Given the description of an element on the screen output the (x, y) to click on. 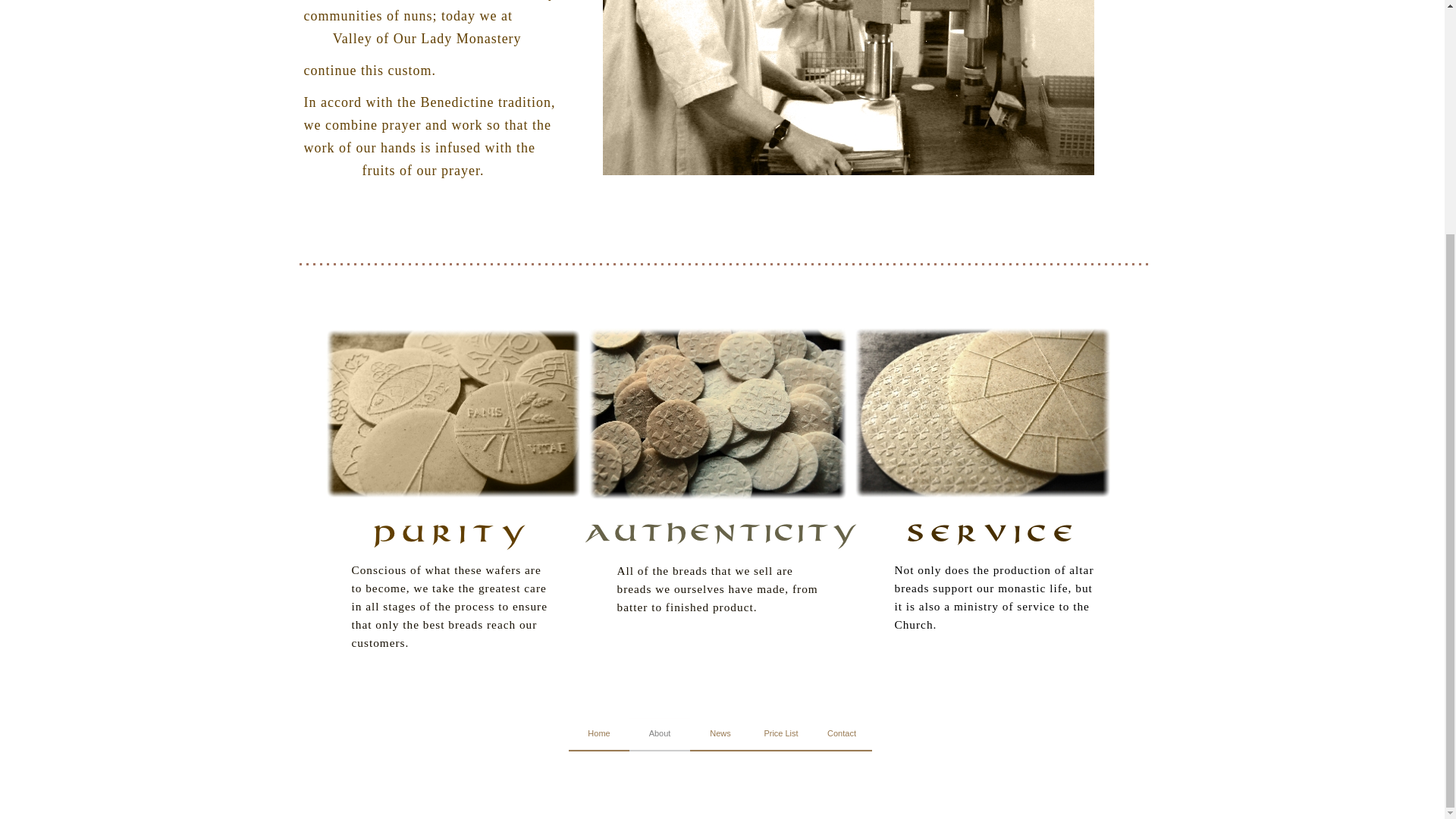
Nuns cutting presider hosts (847, 87)
Home (598, 734)
People's communion hosts (716, 413)
Price List (780, 734)
News (720, 734)
Contact (841, 734)
Large presider hosts (981, 412)
About (659, 734)
Designed presider hosts (453, 413)
